Given the description of an element on the screen output the (x, y) to click on. 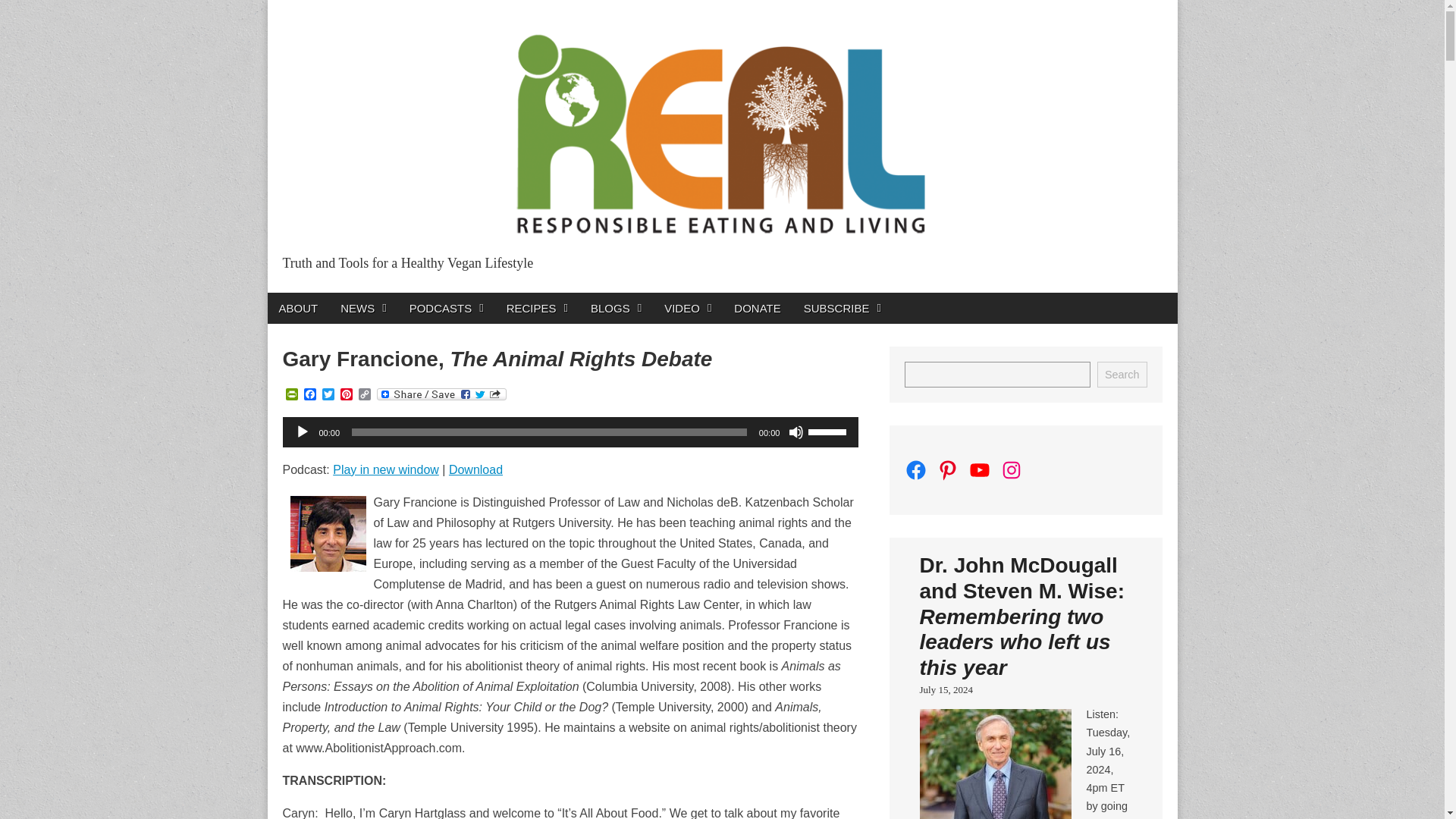
PrintFriendly (290, 395)
Pinterest (345, 395)
PODCASTS (446, 307)
Pinterest (345, 395)
NEWS (363, 307)
RECIPES (537, 307)
Download (475, 469)
Play (301, 432)
Donate to REAL  (757, 307)
Twitter (327, 395)
Play in new window (386, 469)
Twitter (327, 395)
Facebook (308, 395)
